Given the description of an element on the screen output the (x, y) to click on. 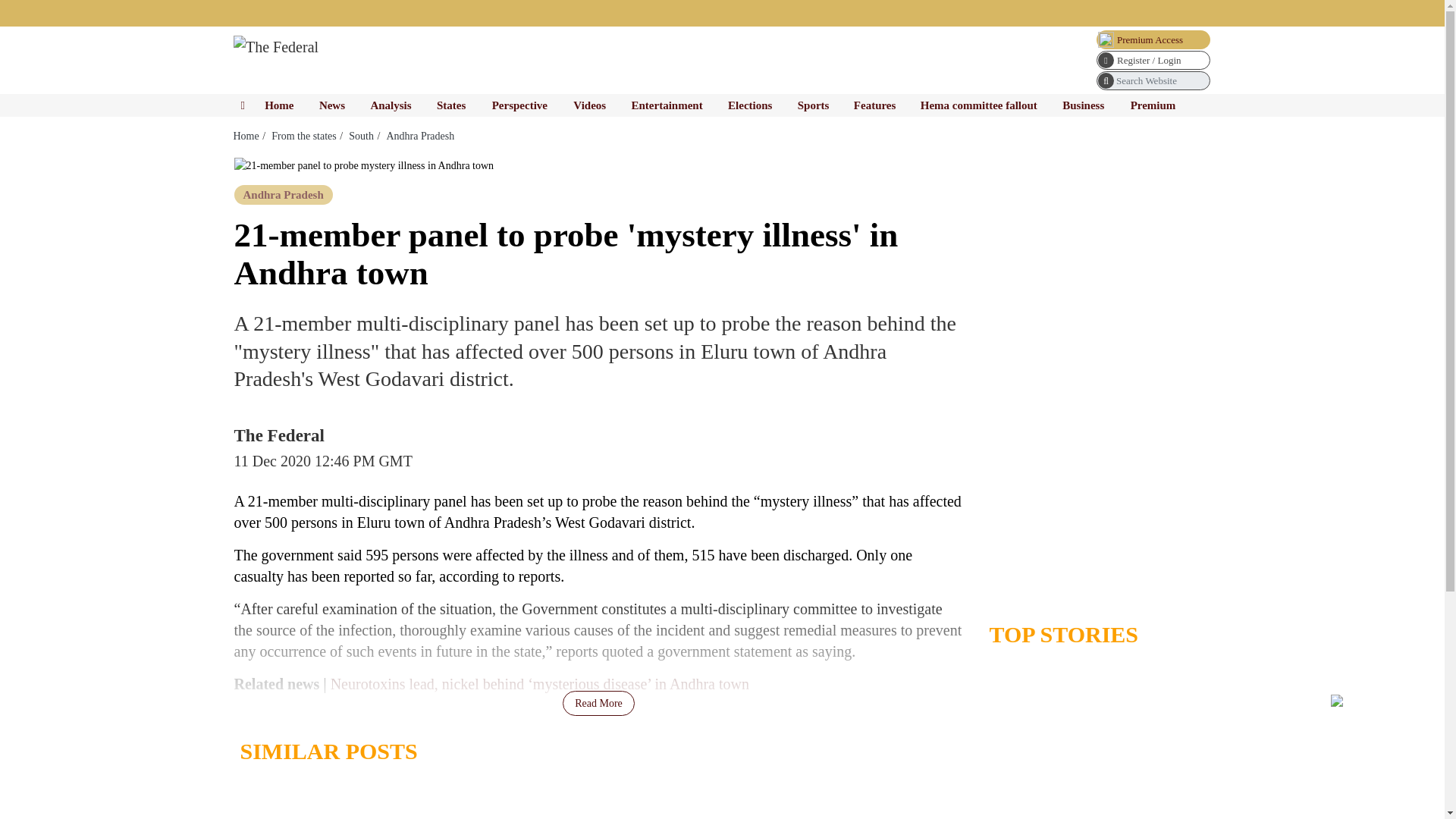
21-member panel to probe mystery illness in Andhra town (362, 165)
Premium Access (1152, 39)
The Federal (275, 47)
